Given the description of an element on the screen output the (x, y) to click on. 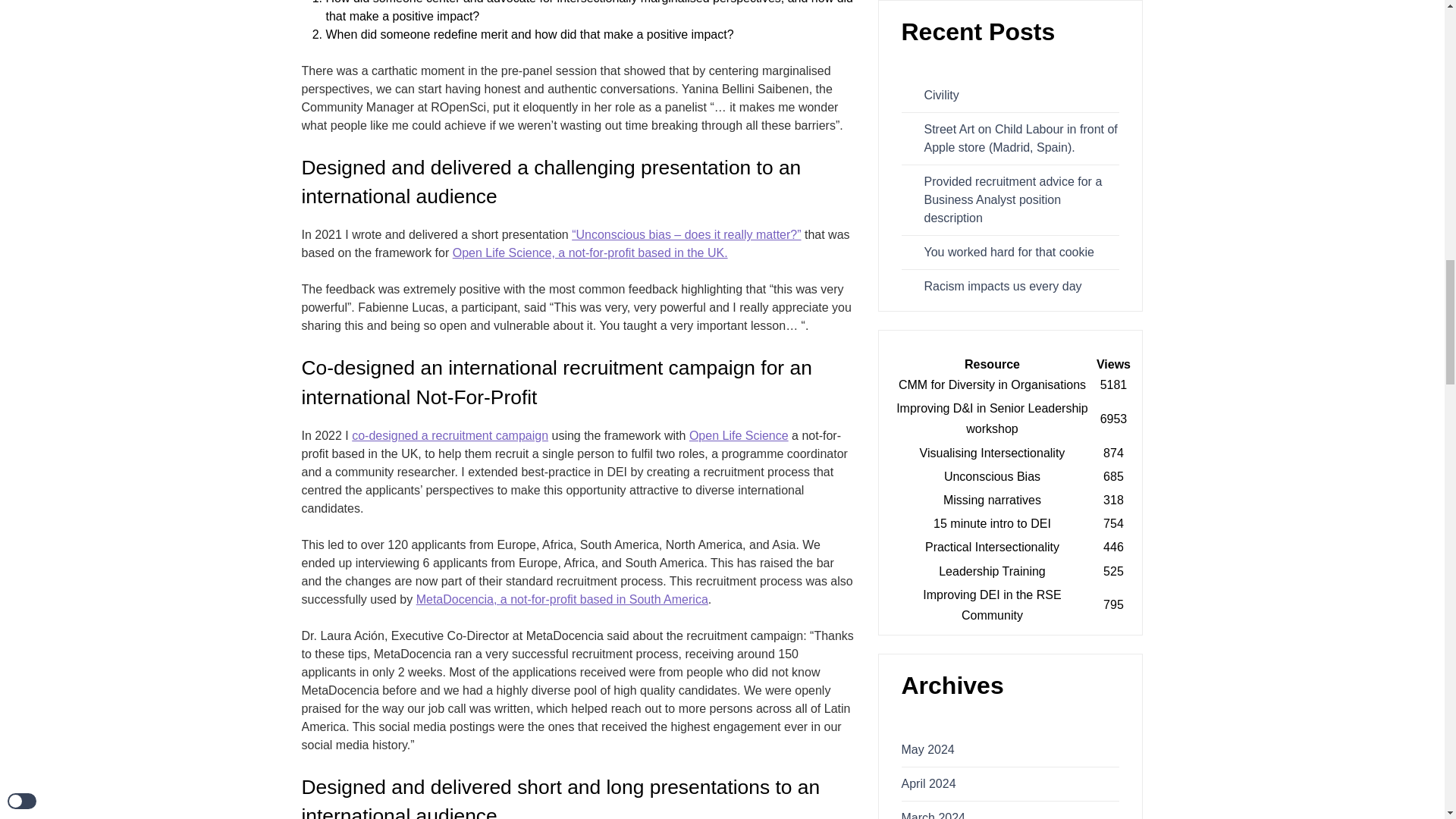
Open Life Science (738, 435)
MetaDocencia, a not-for-profit based in South America (561, 599)
co-designed a recruitment campaign (450, 435)
Open Life Science, a not-for-profit based in the UK. (590, 253)
